Given the description of an element on the screen output the (x, y) to click on. 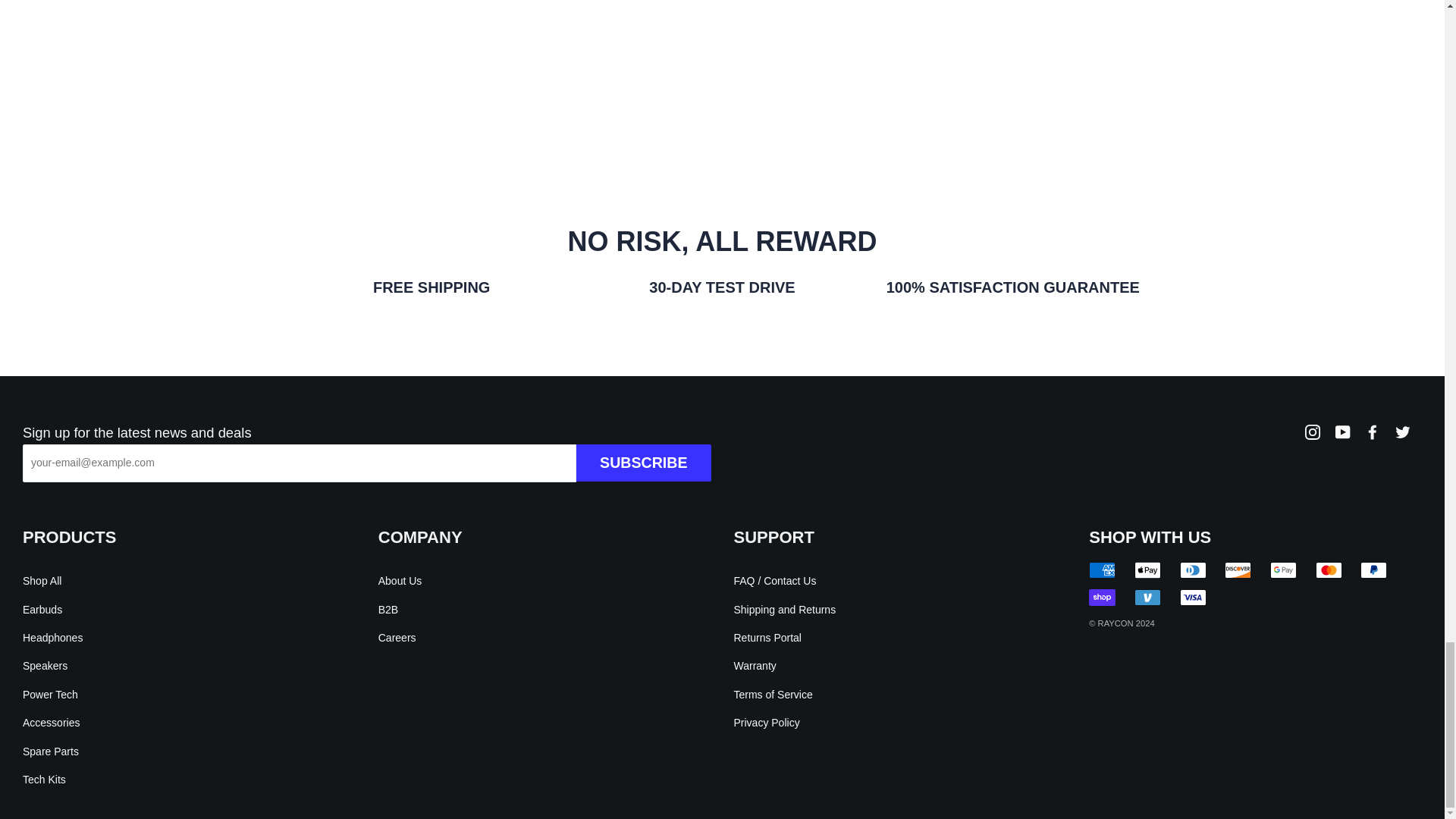
MASTERCARD (1329, 569)
VISA (1193, 597)
DINERS CLUB (1193, 569)
Instagram (1312, 431)
AMERICAN EXPRESS (1102, 569)
PAYPAL (1373, 569)
DISCOVER (1237, 569)
APPLE PAY (1147, 569)
YouTube (1343, 431)
GOOGLE PAY (1283, 569)
